Given the description of an element on the screen output the (x, y) to click on. 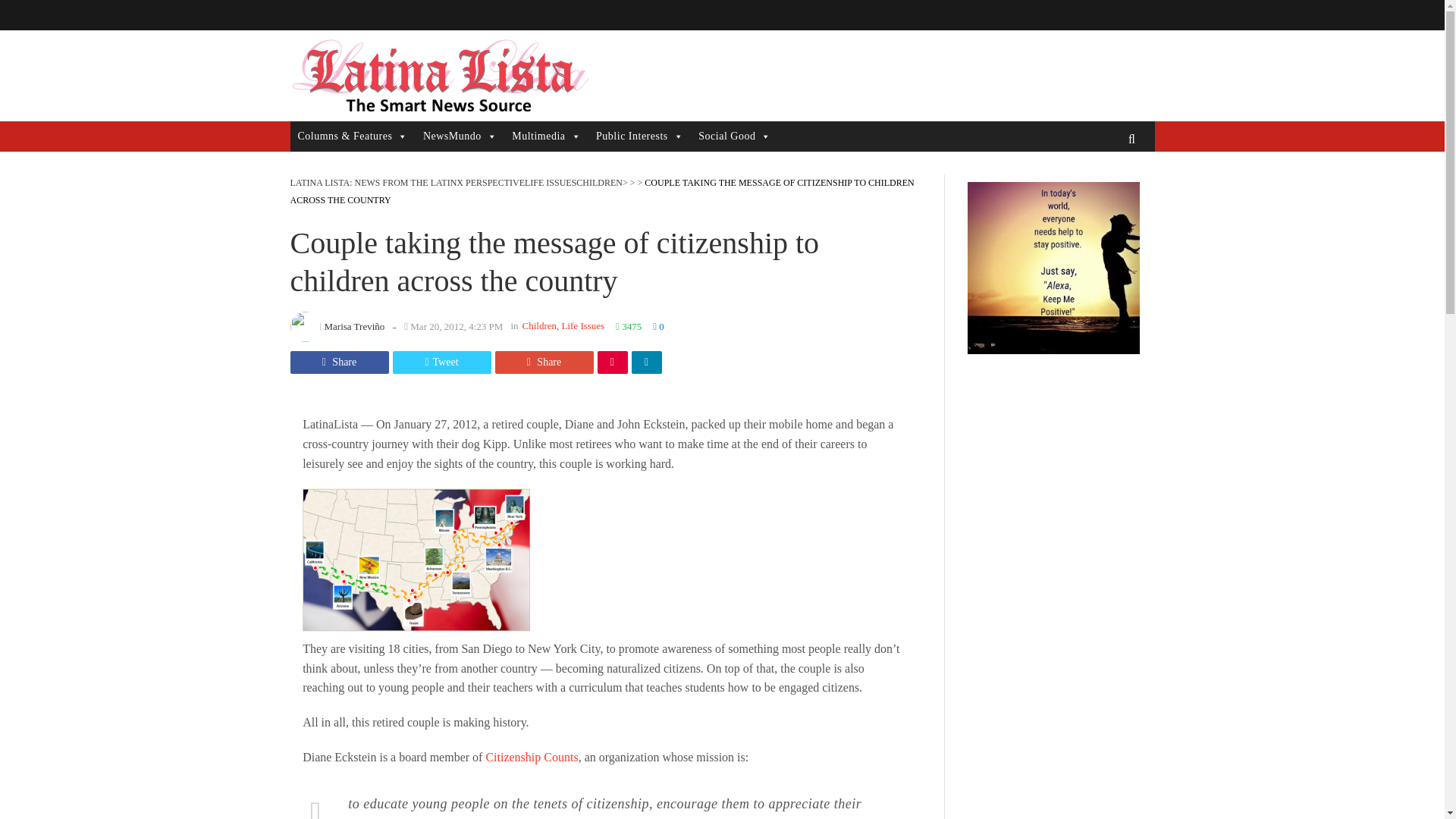
Go to the Life Issues Category archives. (550, 182)
Go to Latina Lista: News from the Latinx perspective. (406, 182)
Latina Lista: News from the Latinx perspective (438, 75)
Go to the Children Category archives. (599, 182)
Screen shot 2012-03-20 at 5.05.30 PM (415, 563)
NewsMundo (458, 136)
